Given the description of an element on the screen output the (x, y) to click on. 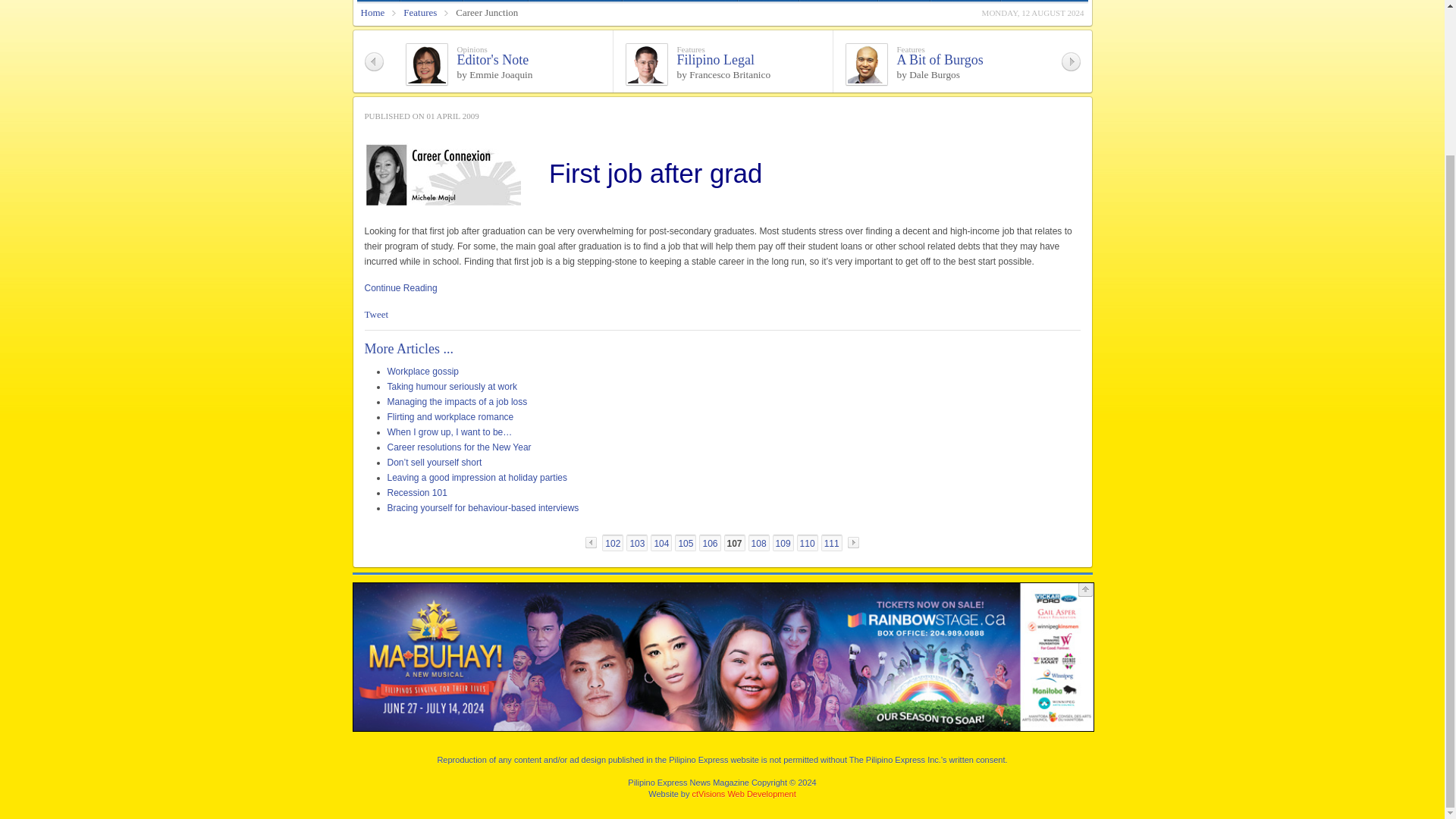
110 (807, 542)
First job after grad (400, 287)
106 (709, 542)
103 (636, 542)
109 (783, 542)
102 (612, 542)
104 (660, 542)
108 (759, 542)
111 (832, 542)
105 (685, 542)
